Given the description of an element on the screen output the (x, y) to click on. 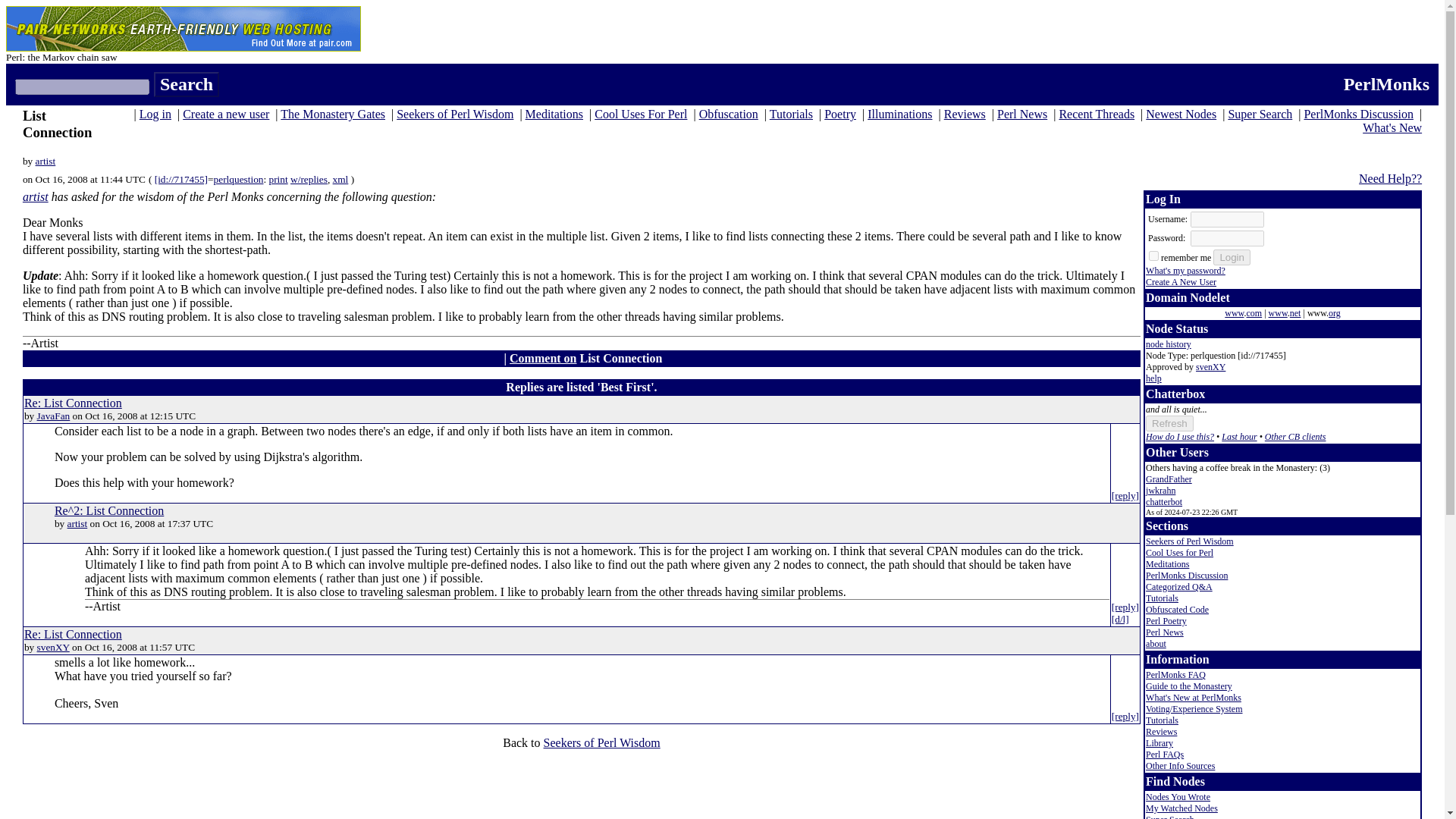
Obfuscation (728, 113)
Comment on (542, 358)
Re: List Connection (73, 634)
Create a new user (226, 113)
Meditations (554, 113)
What's New (1392, 127)
artist (76, 523)
Recent Threads (1096, 113)
Login (1231, 257)
The Monastery Gates (333, 113)
Search (186, 84)
Newest Nodes (1180, 113)
artist (45, 161)
print (278, 179)
Seekers of Perl Wisdom (454, 113)
